Given the description of an element on the screen output the (x, y) to click on. 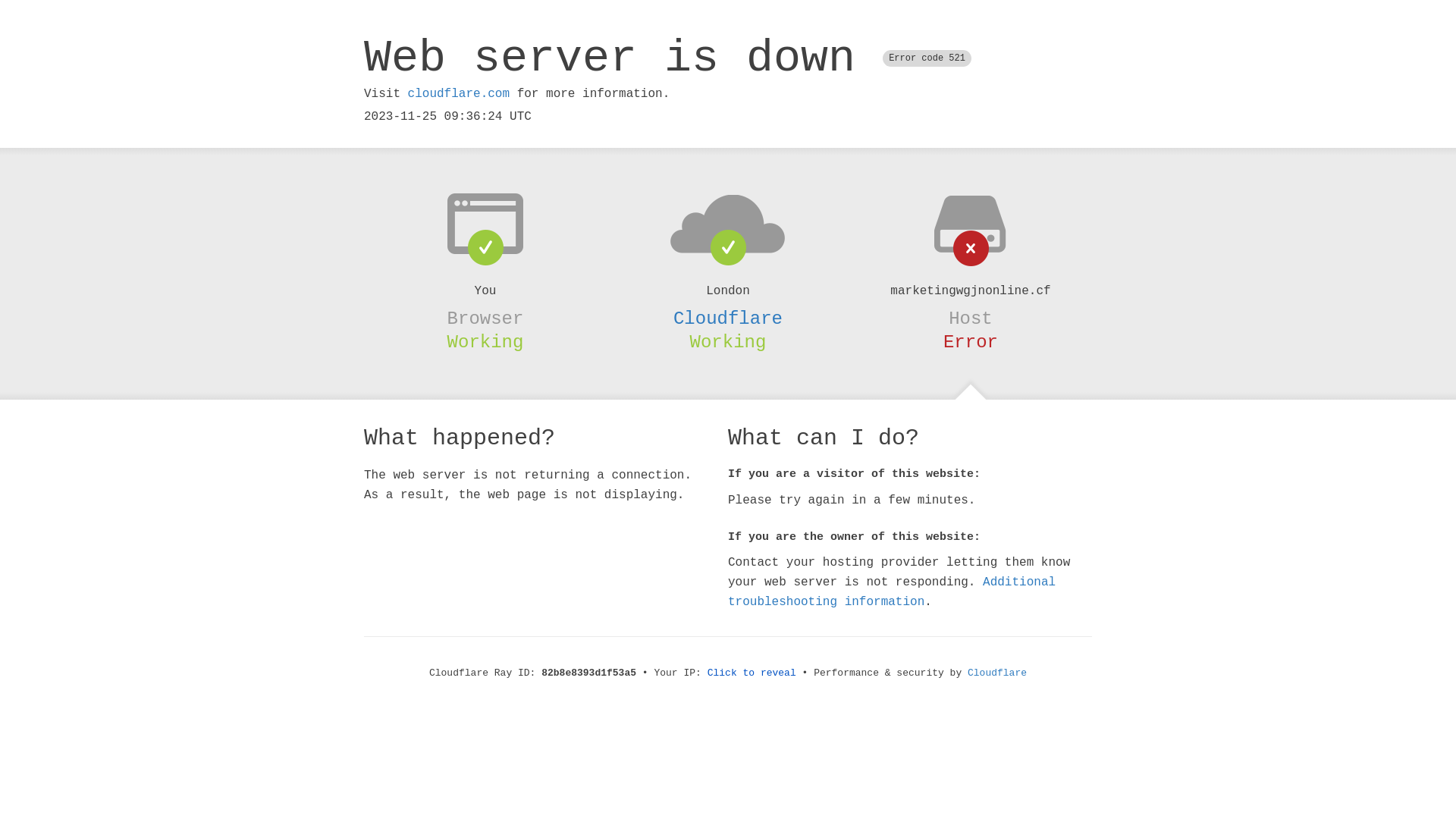
cloudflare.com Element type: text (458, 93)
Cloudflare Element type: text (996, 672)
Click to reveal Element type: text (751, 672)
Additional troubleshooting information Element type: text (891, 591)
Cloudflare Element type: text (727, 318)
